Given the description of an element on the screen output the (x, y) to click on. 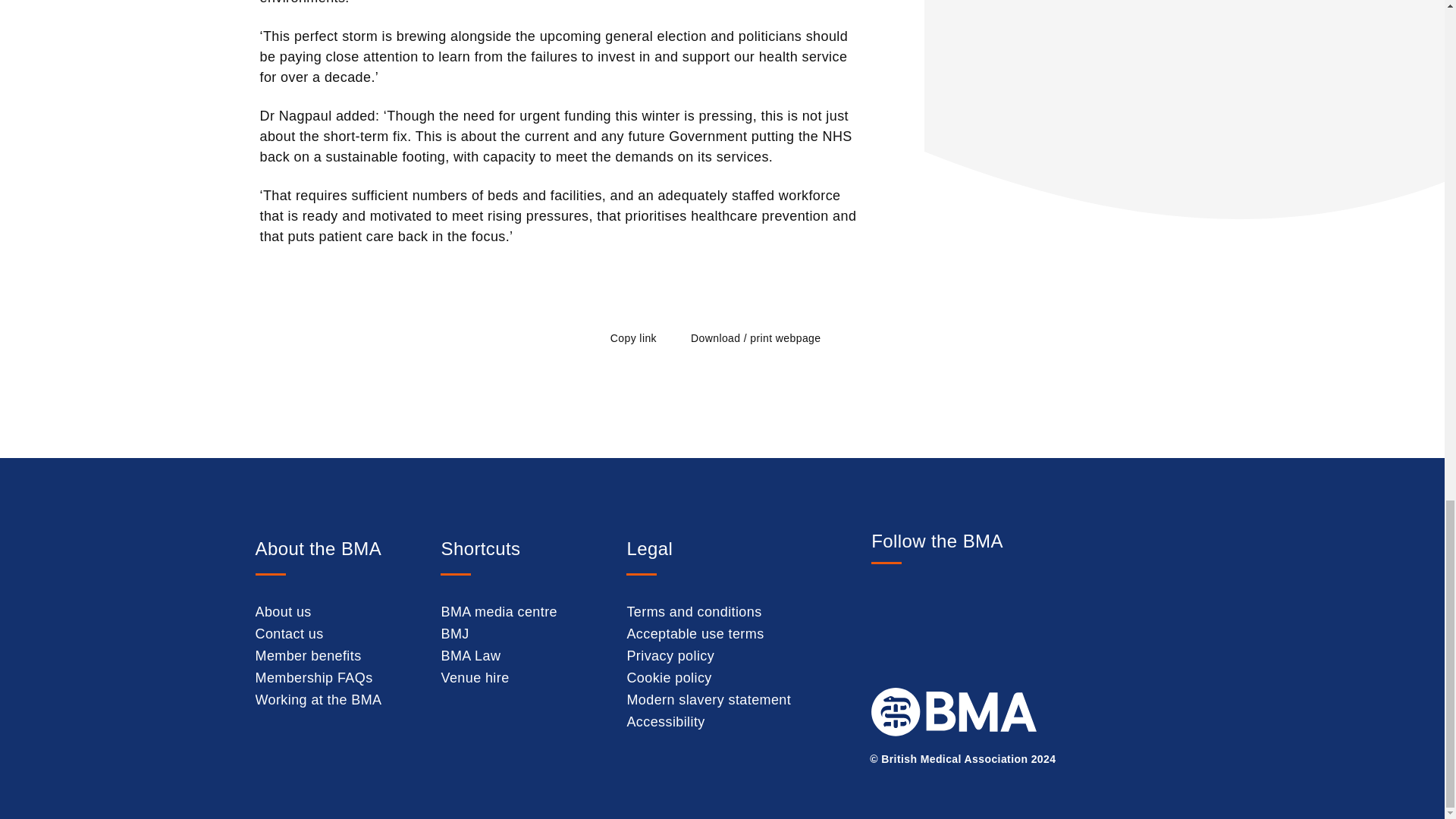
Modern slavery statement (708, 699)
Accessibility (665, 721)
BMA Law (470, 655)
Contact us (288, 633)
Cyber Essentials (1105, 727)
Working at the BMA (317, 699)
BMA media centre (498, 611)
Terms and conditions (693, 611)
Member benefits (307, 655)
Acceptable use terms (694, 633)
Venue hire (474, 677)
BMA media centre (498, 611)
Membership FAQs (313, 677)
About us (282, 611)
About us (282, 611)
